Given the description of an element on the screen output the (x, y) to click on. 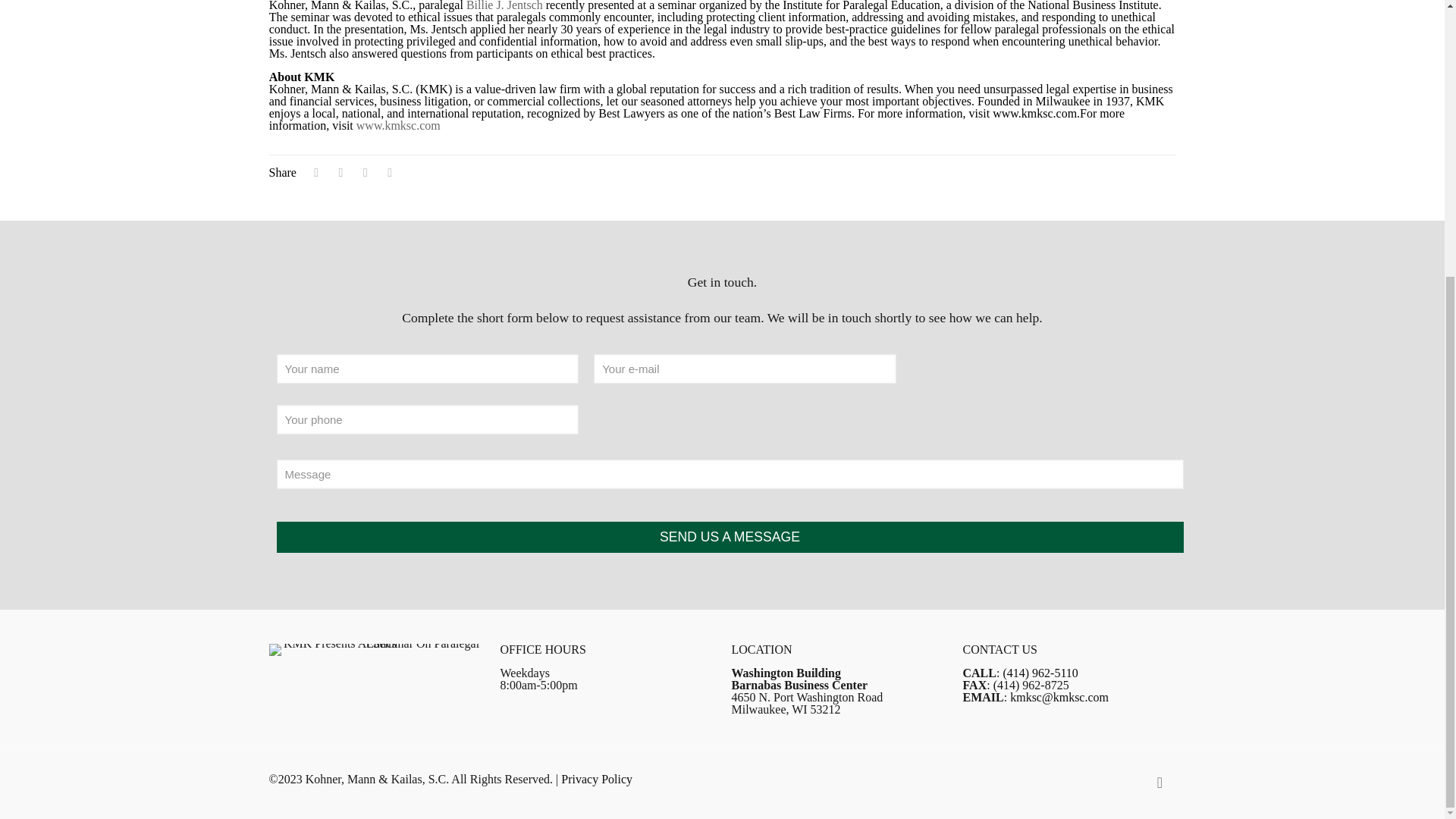
Billie J. Jentsch (504, 5)
Privacy Policy (595, 779)
www.kmksc.com (398, 124)
SEND US A MESSAGE (729, 536)
SEND US A MESSAGE (729, 536)
